Given the description of an element on the screen output the (x, y) to click on. 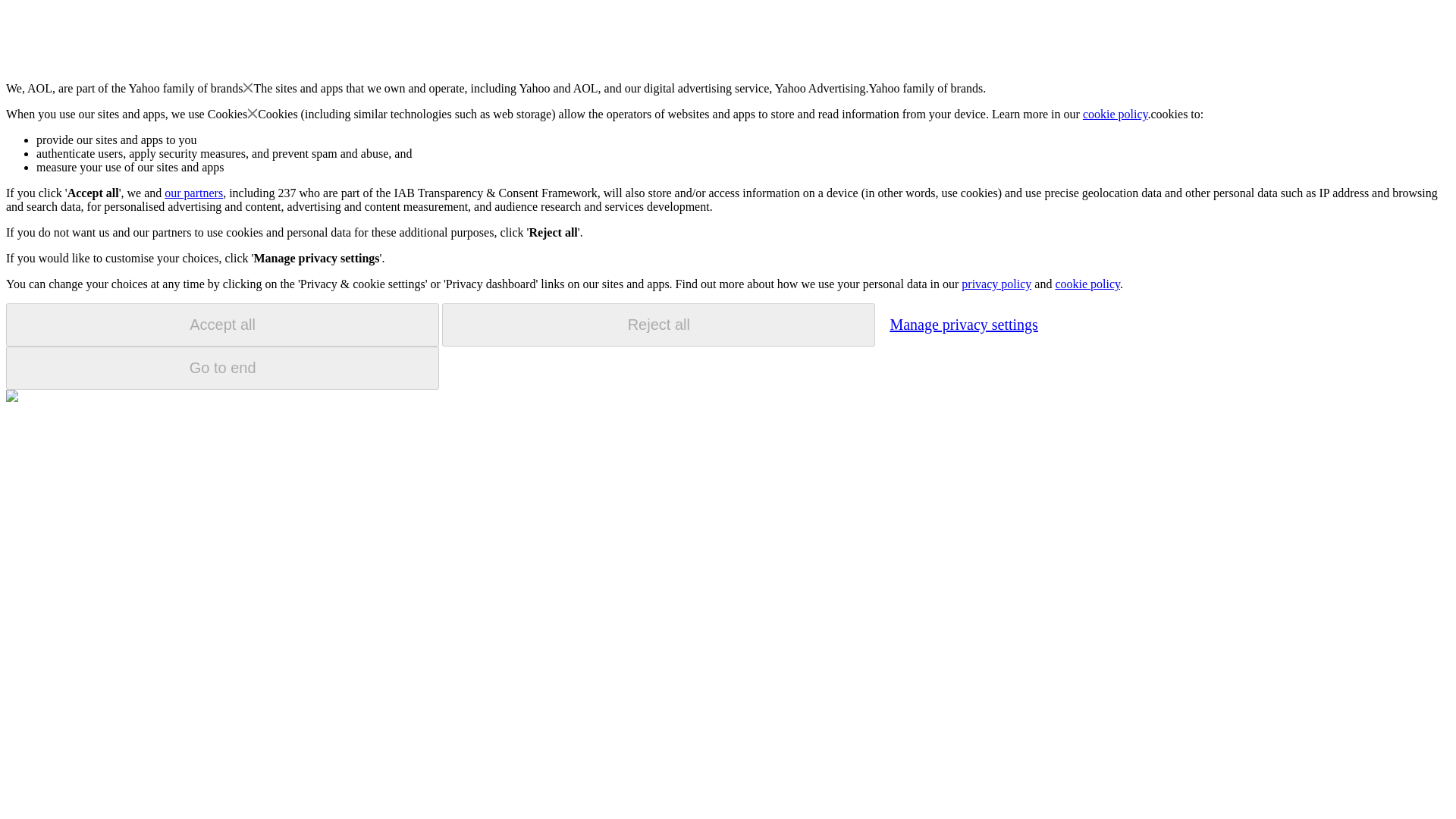
Reject all (658, 324)
Accept all (222, 324)
cookie policy (1115, 113)
cookie policy (1086, 283)
our partners (193, 192)
privacy policy (995, 283)
Go to end (222, 367)
Manage privacy settings (963, 323)
